Given the description of an element on the screen output the (x, y) to click on. 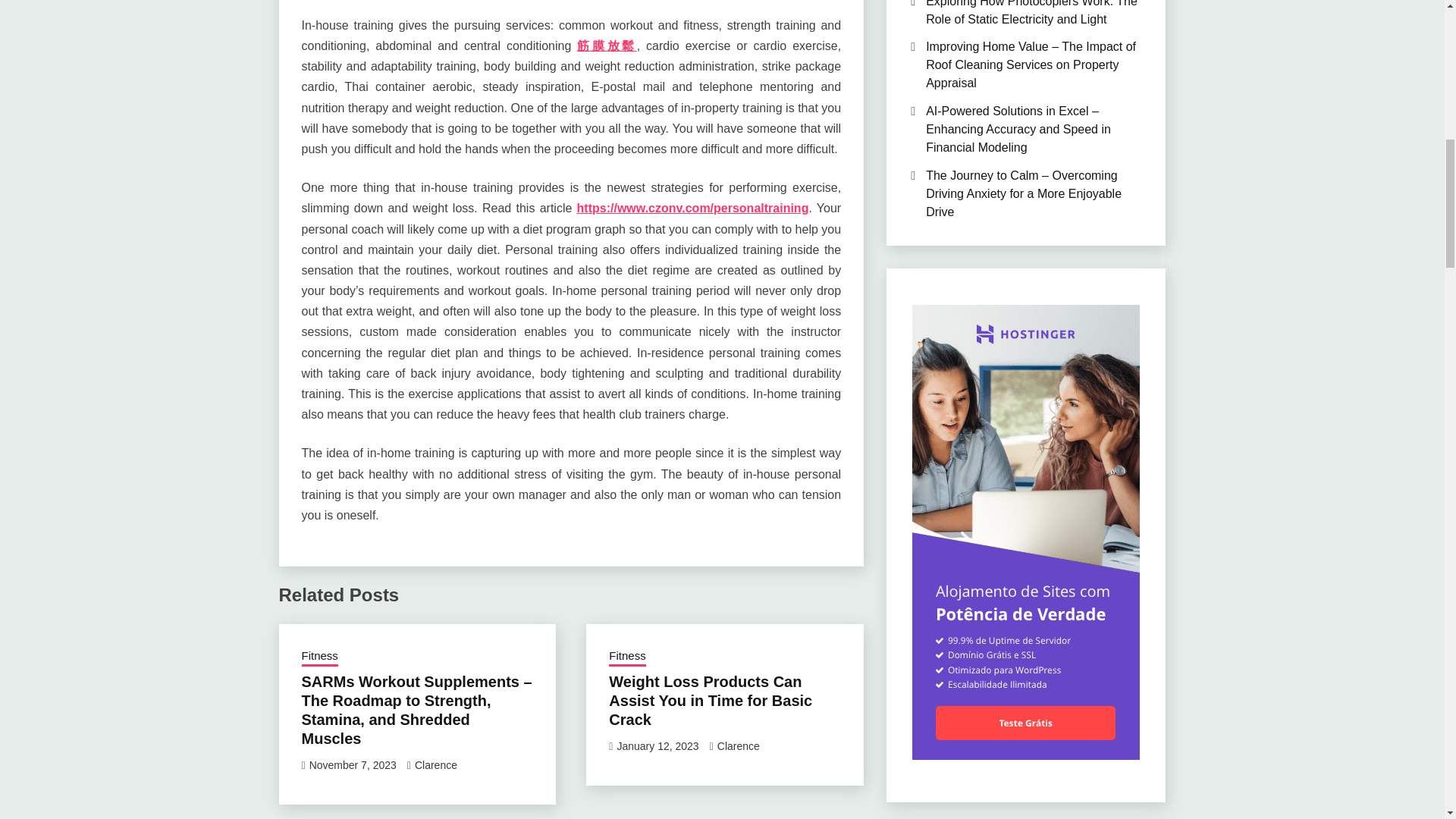
Clarence (435, 765)
January 12, 2023 (656, 746)
November 7, 2023 (352, 765)
Clarence (738, 746)
Fitness (626, 657)
Weight Loss Products Can Assist You in Time for Basic Crack (710, 700)
Fitness (319, 657)
